Given the description of an element on the screen output the (x, y) to click on. 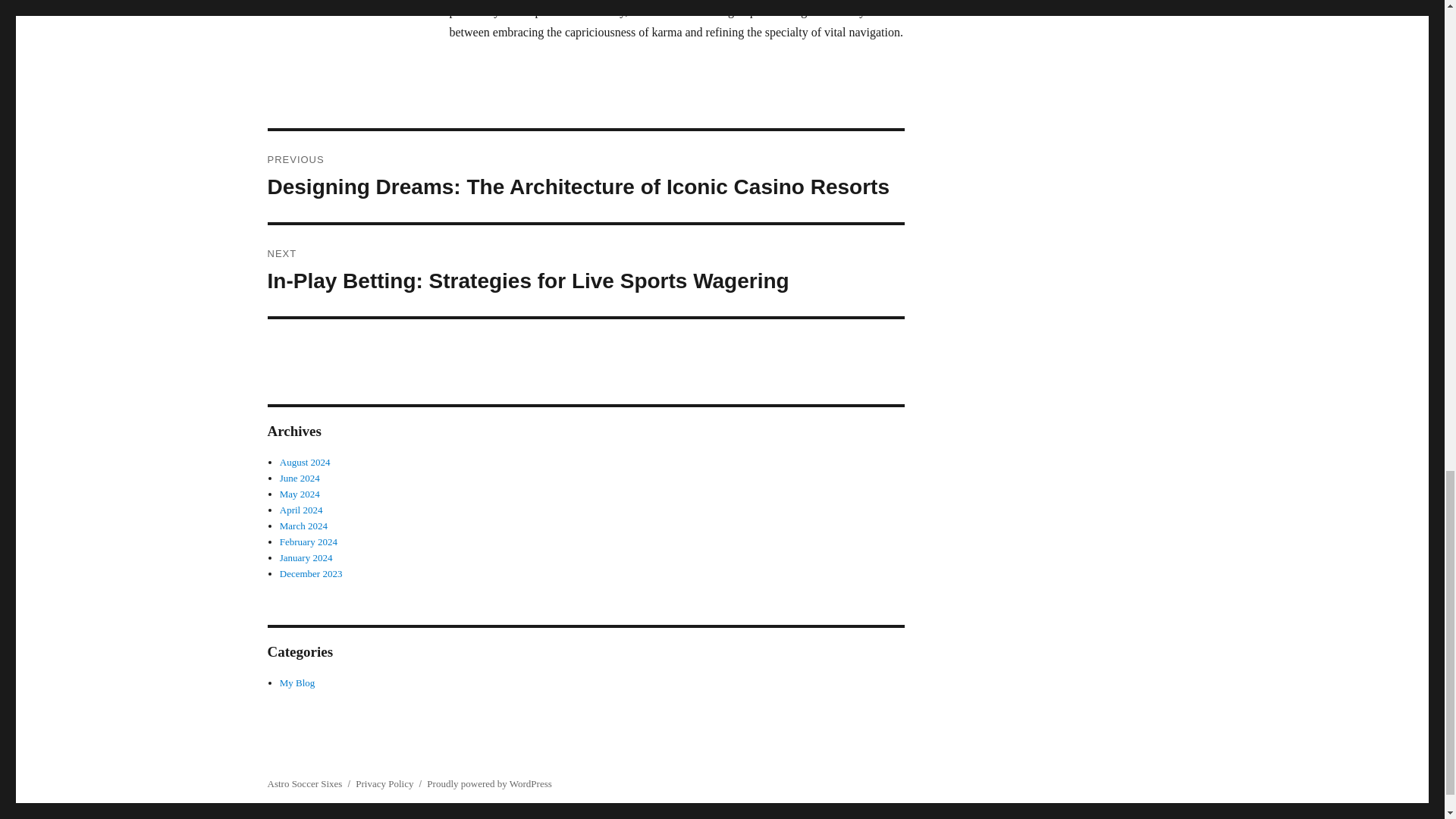
January 2024 (306, 557)
June 2024 (299, 478)
May 2024 (299, 493)
August 2024 (304, 461)
April 2024 (301, 509)
December 2023 (310, 573)
Privacy Policy (384, 783)
March 2024 (303, 525)
